Given the description of an element on the screen output the (x, y) to click on. 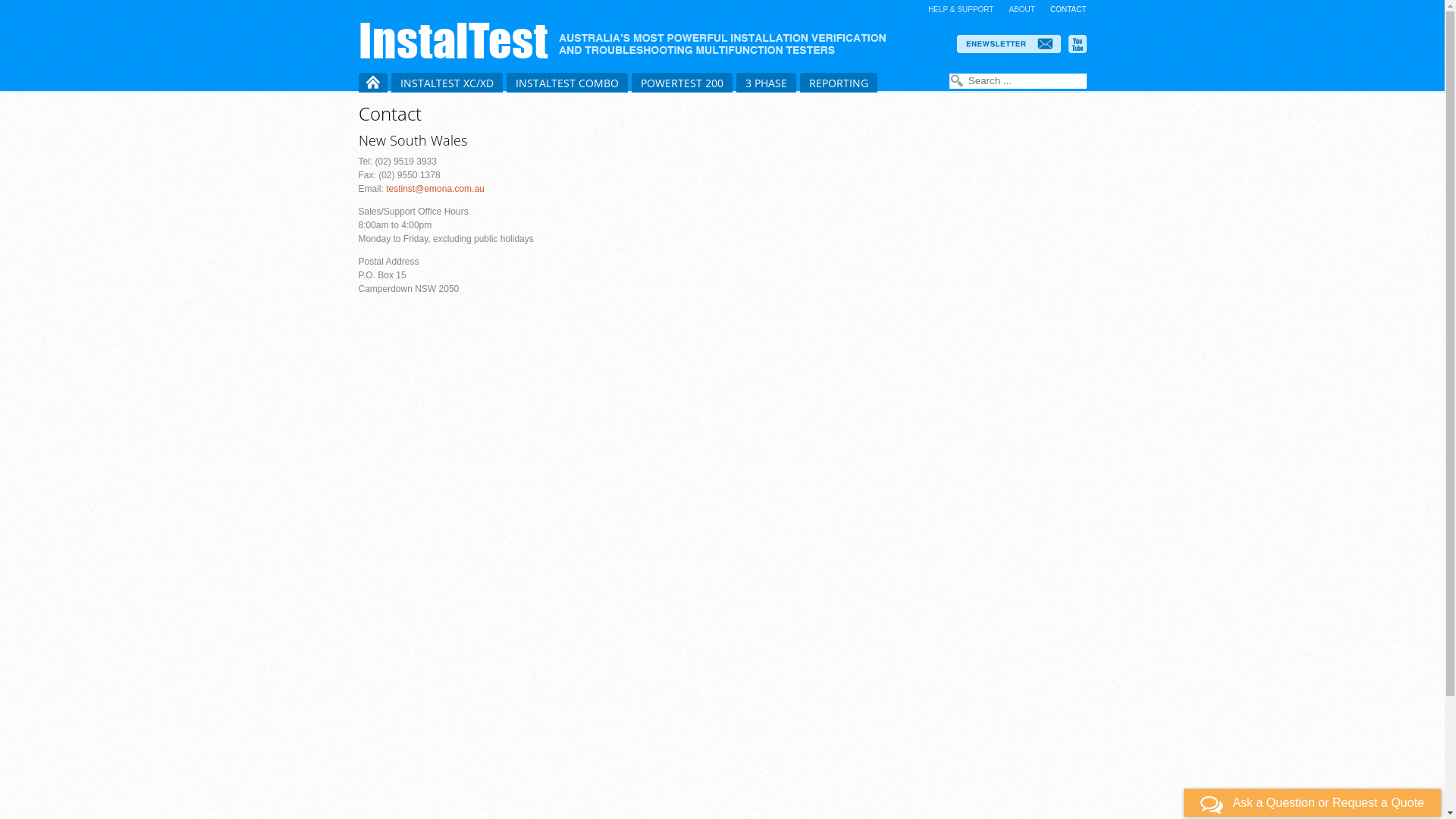
Emona Instruments Element type: text (628, 39)
POWERTEST 200 Element type: text (680, 82)
CONTACT Element type: text (1068, 9)
3 PHASE Element type: text (765, 82)
REPORTING Element type: text (837, 82)
Search Element type: text (956, 80)
  Ask a Question or Request a Quote Element type: text (1311, 802)
testinst@emona.com.au Element type: text (434, 188)
INSTALTEST COMBO Element type: text (566, 82)
HOME Element type: text (371, 82)
ABOUT Element type: text (1021, 9)
INSTALTEST XC/XD Element type: text (446, 82)
HELP & SUPPORT Element type: text (960, 9)
